Given the description of an element on the screen output the (x, y) to click on. 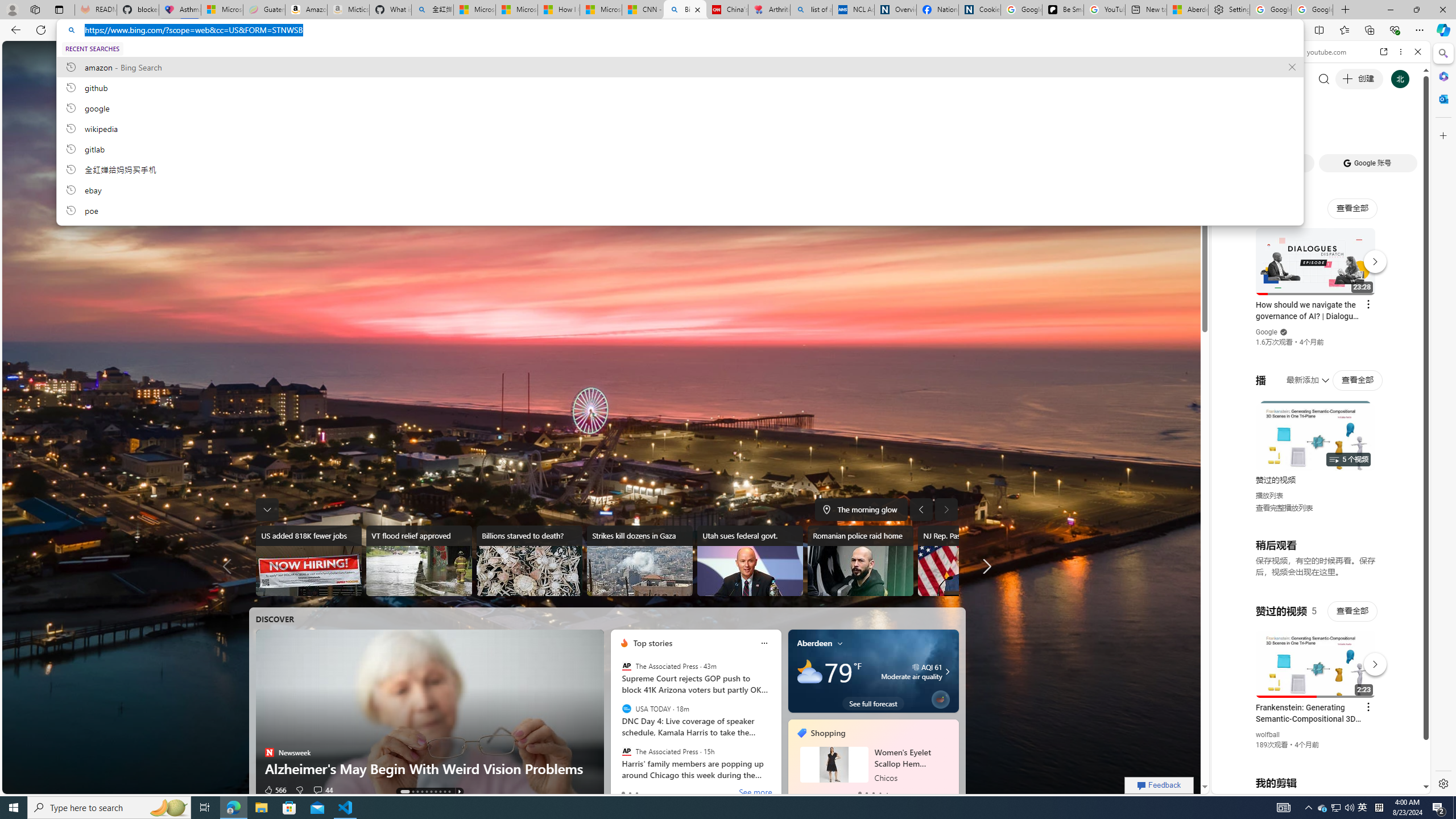
View comments 44 Comment (317, 789)
View comments 44 Comment (322, 789)
Trailer #2 [HD] (1320, 337)
Microsoft-Report a Concern to Bing (221, 9)
Shopping (827, 732)
Images (319, 53)
VT flood relief approved (418, 560)
AutomationID: tab-3 (421, 791)
AutomationID: tab-0 (404, 791)
Videos (363, 53)
How I Got Rid of Microsoft Edge's Unnecessary Features (558, 9)
